Given the description of an element on the screen output the (x, y) to click on. 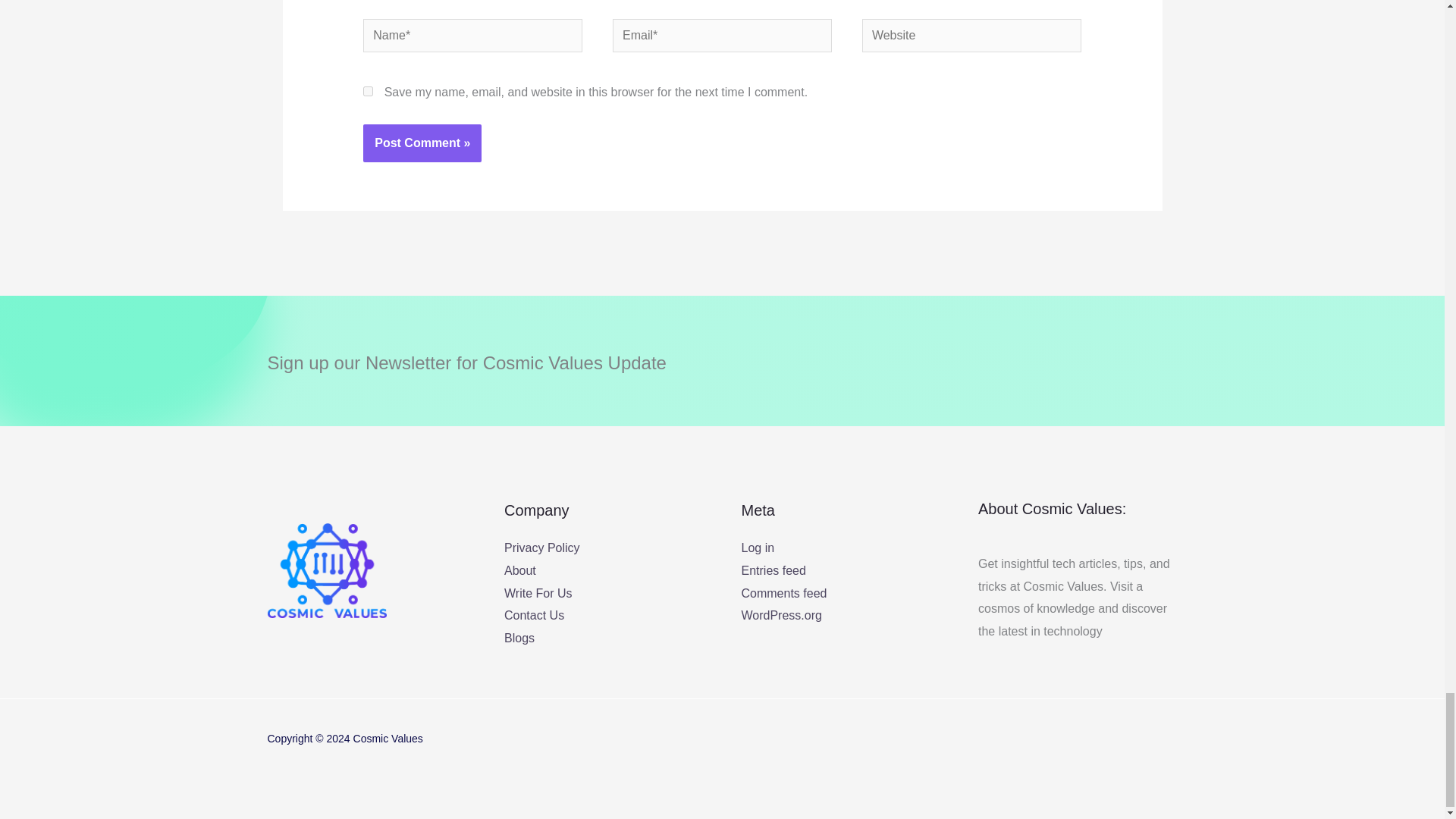
yes (367, 91)
